Given the description of an element on the screen output the (x, y) to click on. 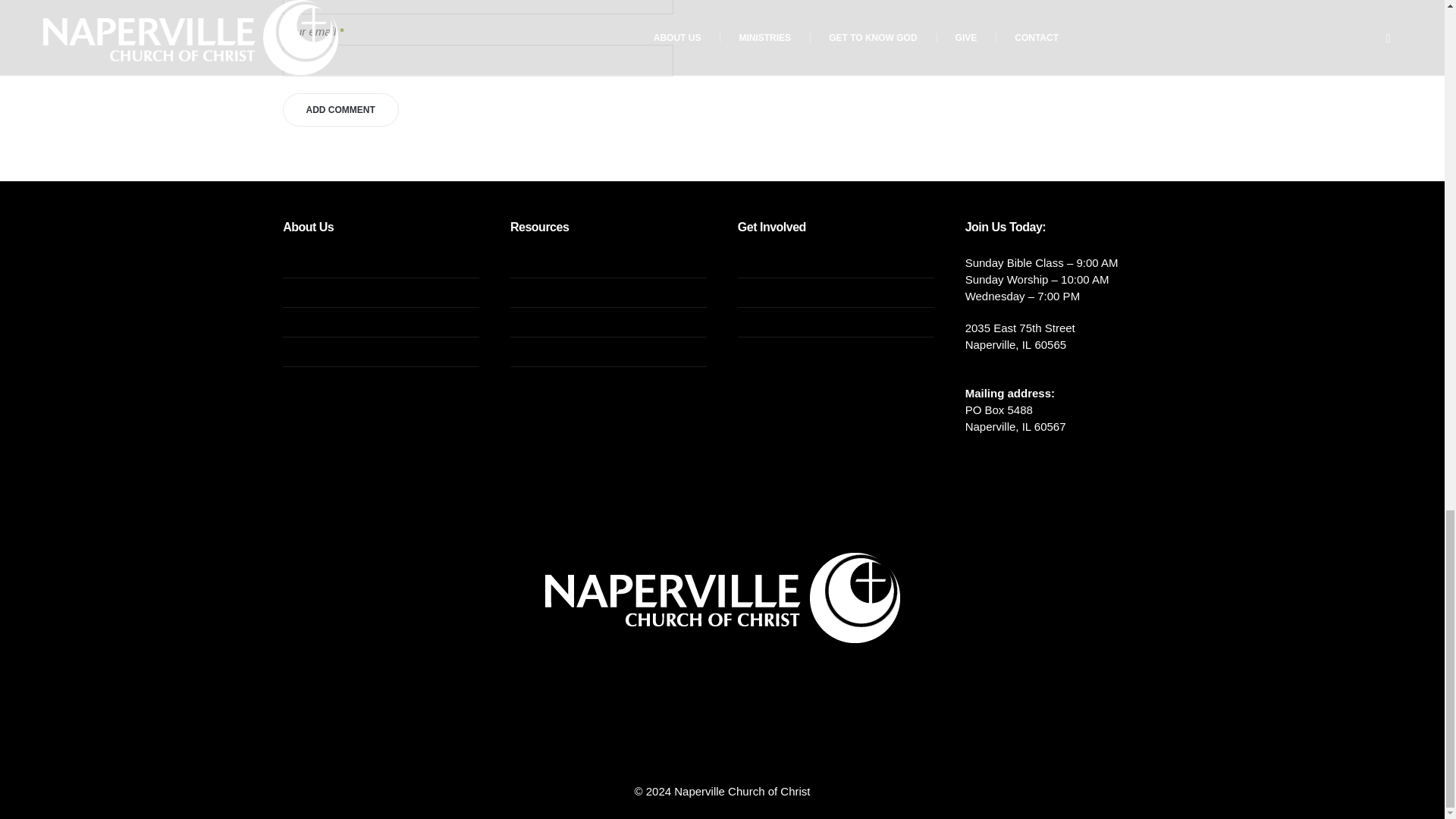
Naperville Church of Christ (721, 597)
Add Comment (339, 109)
Facebook (625, 711)
Add Comment (339, 109)
